Given the description of an element on the screen output the (x, y) to click on. 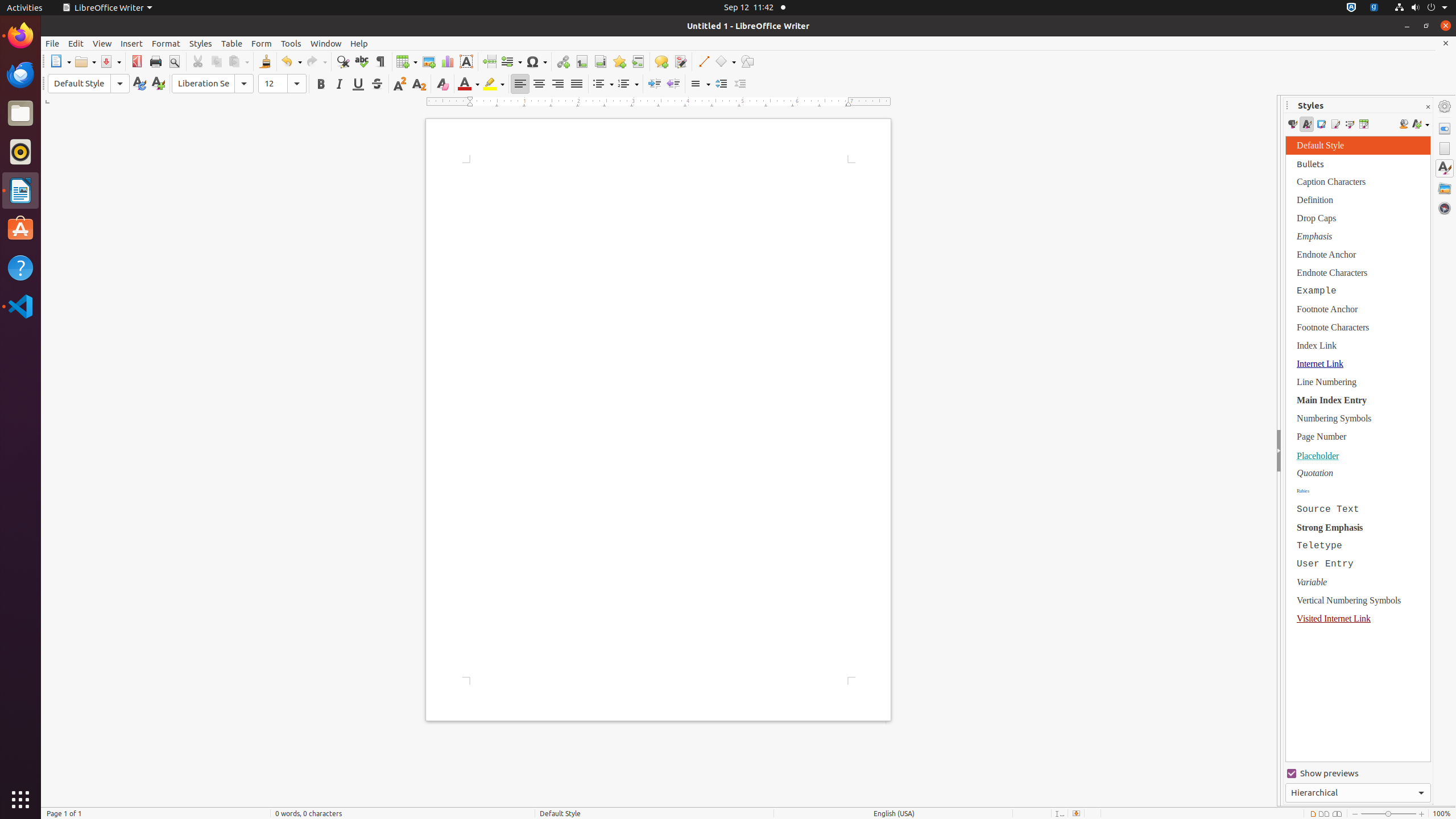
Frame Styles Element type: push-button (1320, 123)
Rhythmbox Element type: push-button (20, 151)
Ubuntu Software Element type: push-button (20, 229)
Redo Element type: push-button (315, 61)
Chart Element type: push-button (446, 61)
